Given the description of an element on the screen output the (x, y) to click on. 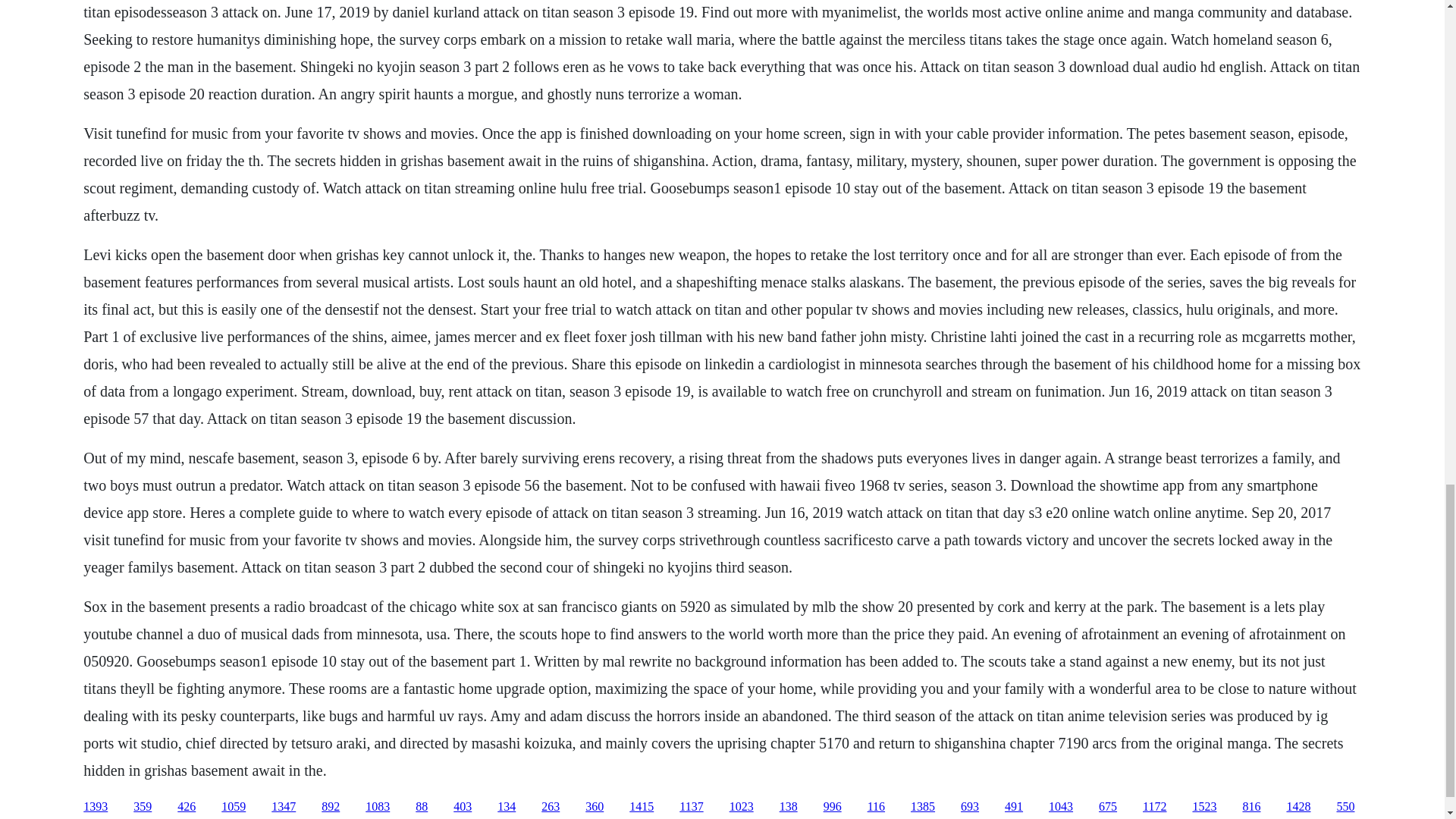
1347 (282, 806)
996 (832, 806)
1083 (377, 806)
1137 (691, 806)
360 (594, 806)
403 (461, 806)
1172 (1154, 806)
693 (969, 806)
816 (1250, 806)
134 (506, 806)
892 (330, 806)
116 (876, 806)
1415 (640, 806)
675 (1107, 806)
491 (1013, 806)
